Given the description of an element on the screen output the (x, y) to click on. 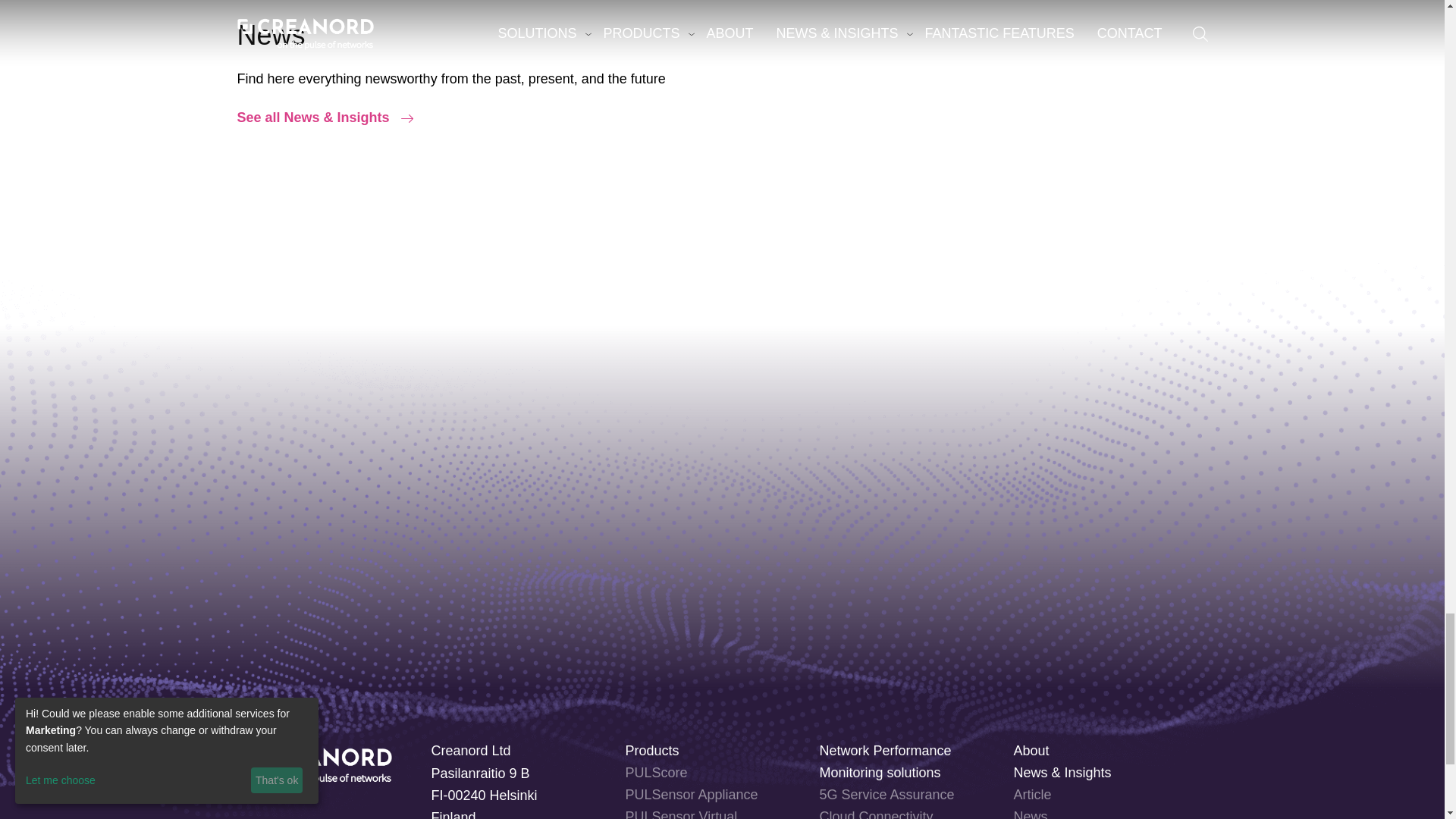
Creanord (313, 761)
